Given the description of an element on the screen output the (x, y) to click on. 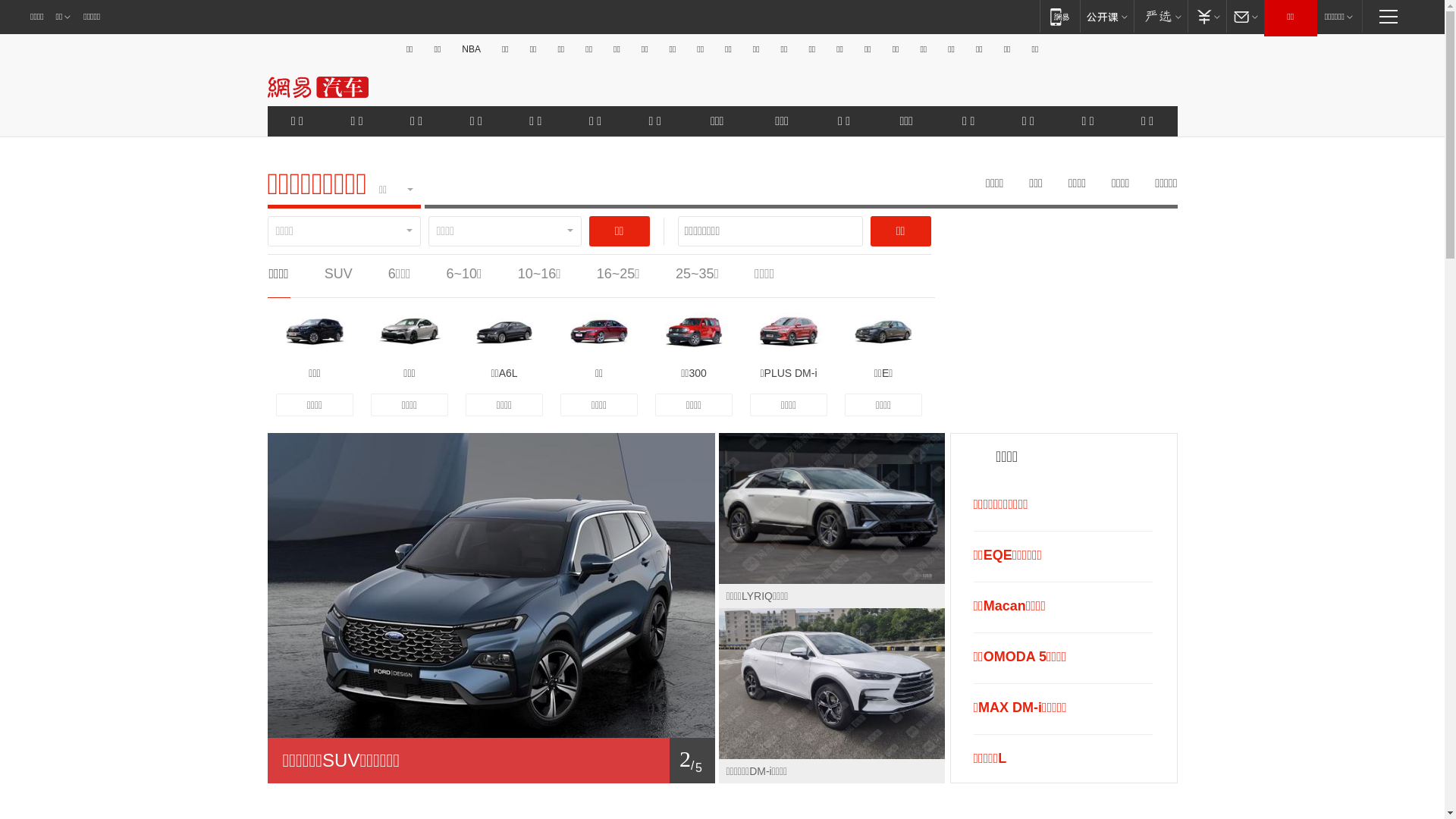
SUV Element type: text (338, 273)
1/ 5 Element type: text (490, 760)
NBA Element type: text (471, 48)
